Given the description of an element on the screen output the (x, y) to click on. 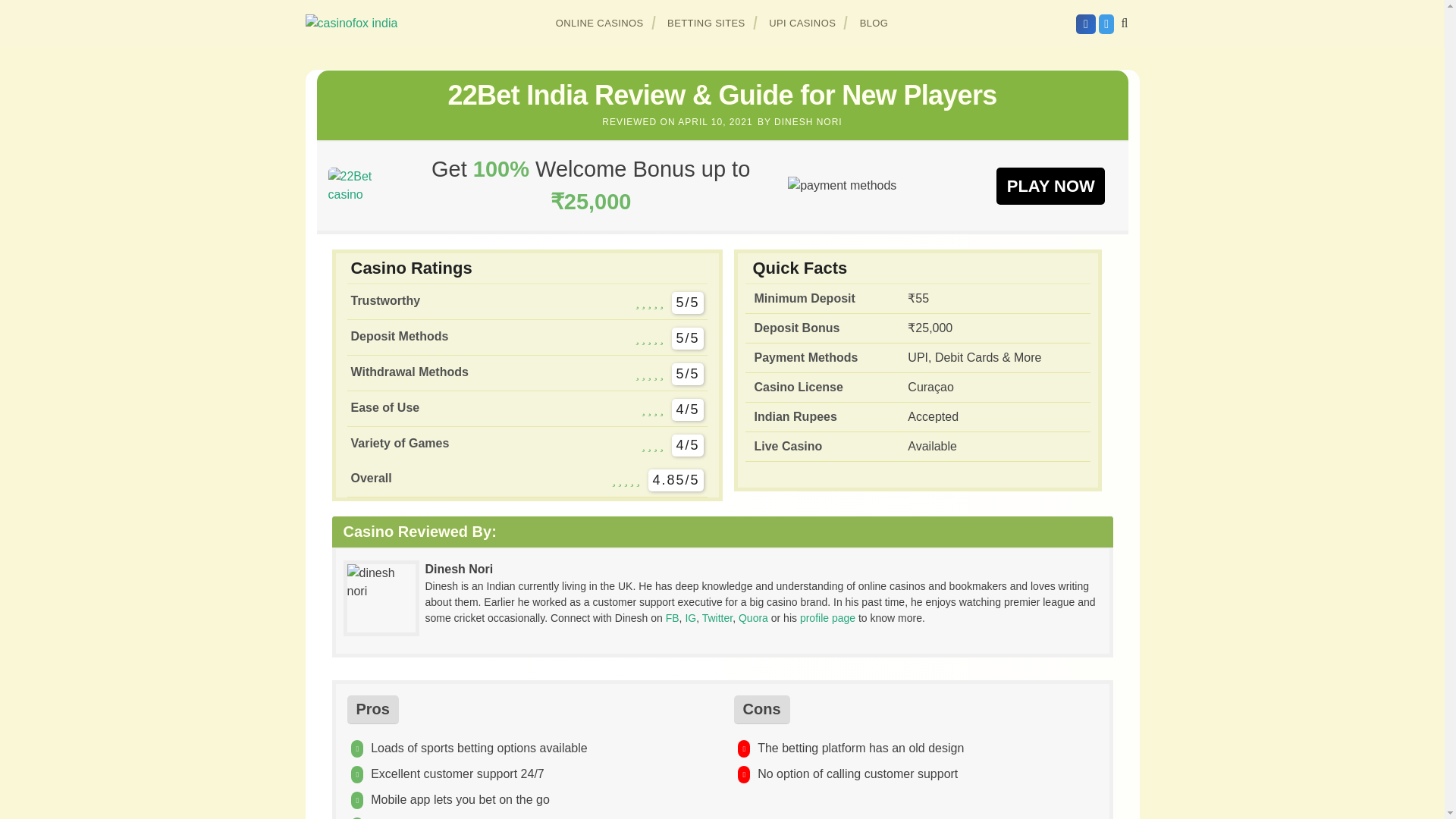
Quora (753, 617)
FB (672, 617)
UPI CASINOS (801, 23)
BETTING SITES (706, 23)
ONLINE CASINOS (599, 23)
PLAY NOW (1050, 185)
22Bet (360, 185)
BLOG (874, 23)
Twitter (716, 617)
22Bet (1050, 185)
IG (689, 617)
profile page (827, 617)
